Given the description of an element on the screen output the (x, y) to click on. 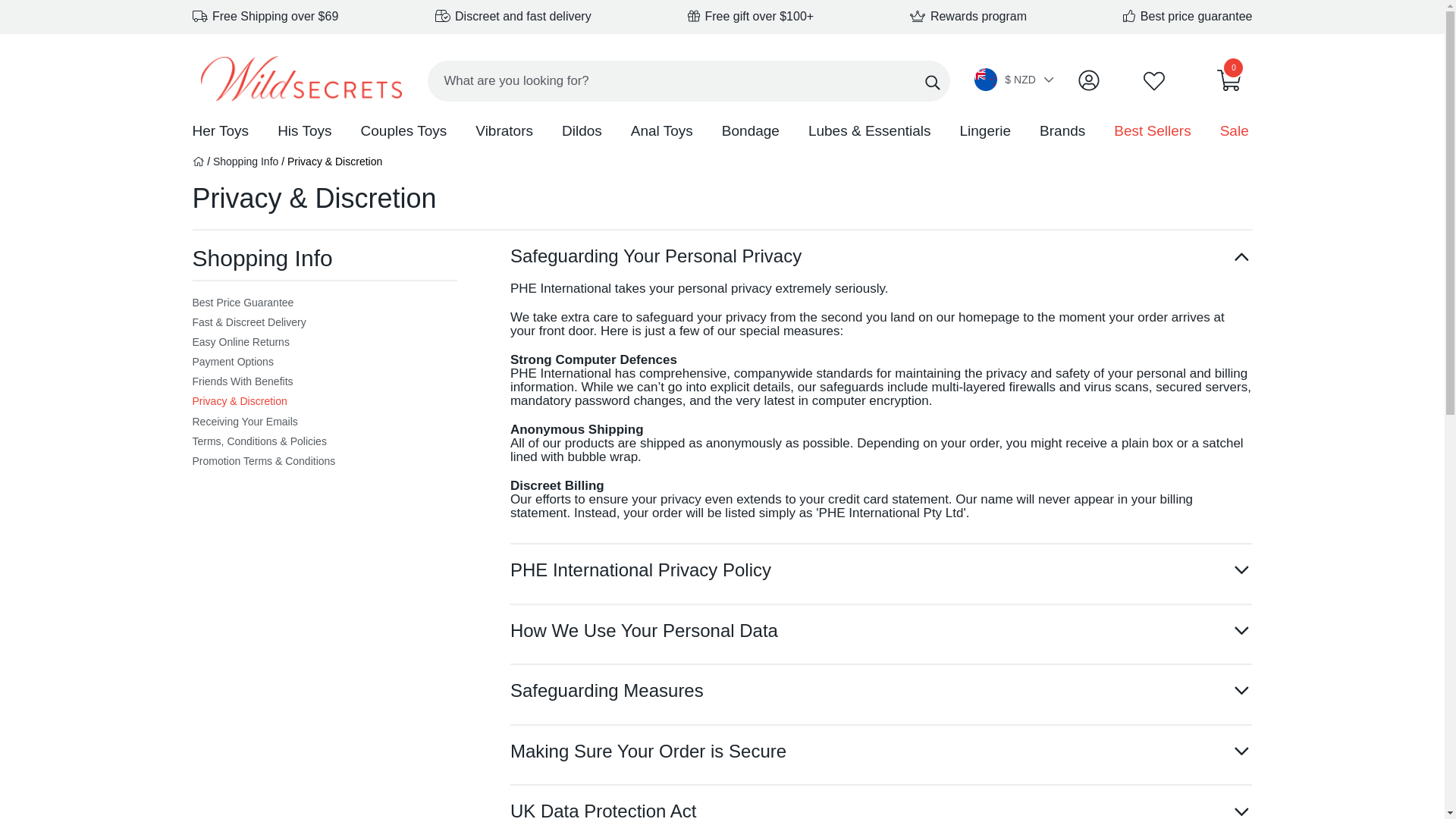
Rewards program (968, 15)
0 (1229, 84)
Her Toys (220, 132)
Best price guarantee (1187, 15)
Discreet and fast delivery (513, 15)
